Given the description of an element on the screen output the (x, y) to click on. 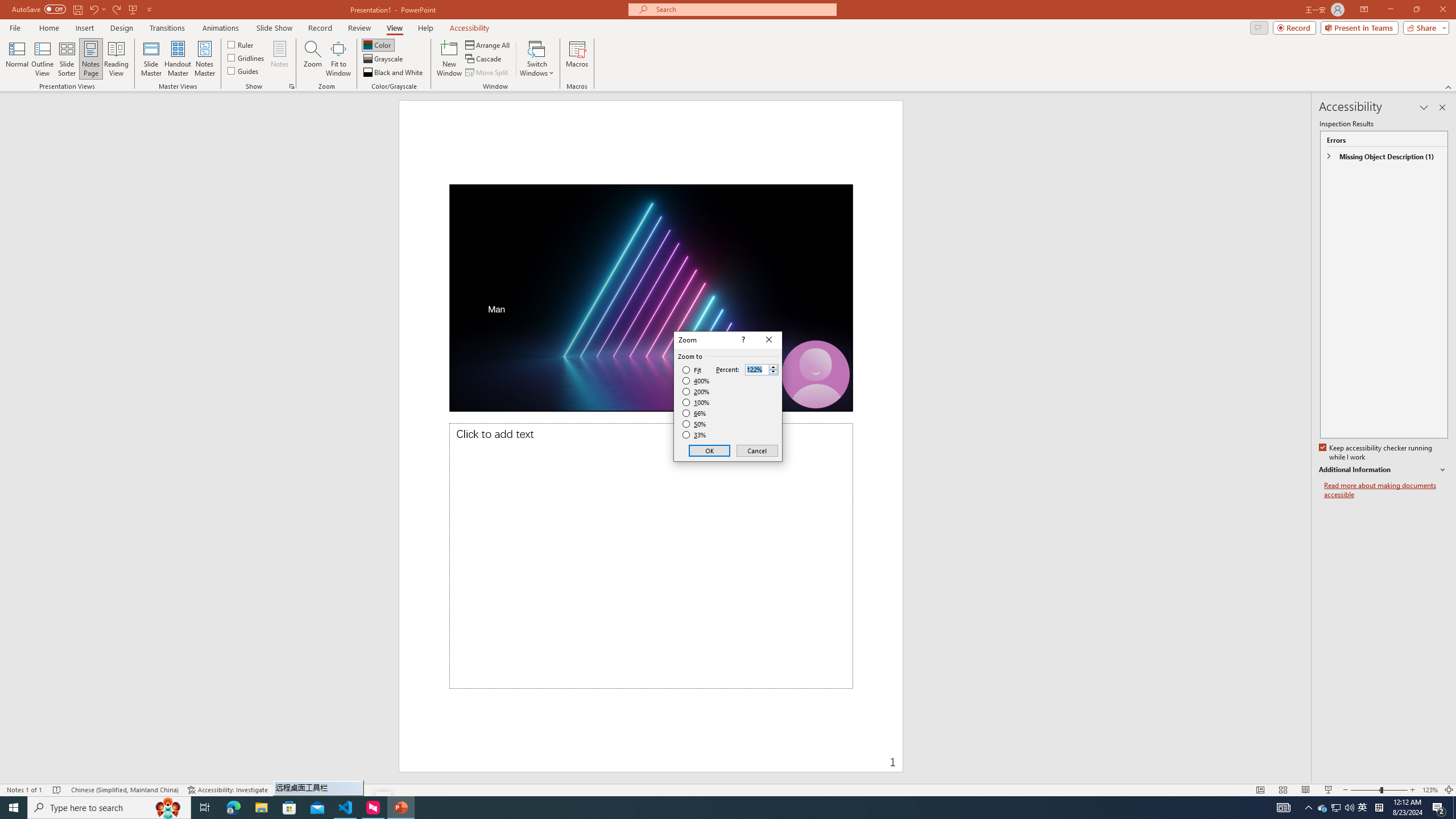
Ruler (241, 44)
Black and White (393, 72)
Page Number (793, 754)
